Given the description of an element on the screen output the (x, y) to click on. 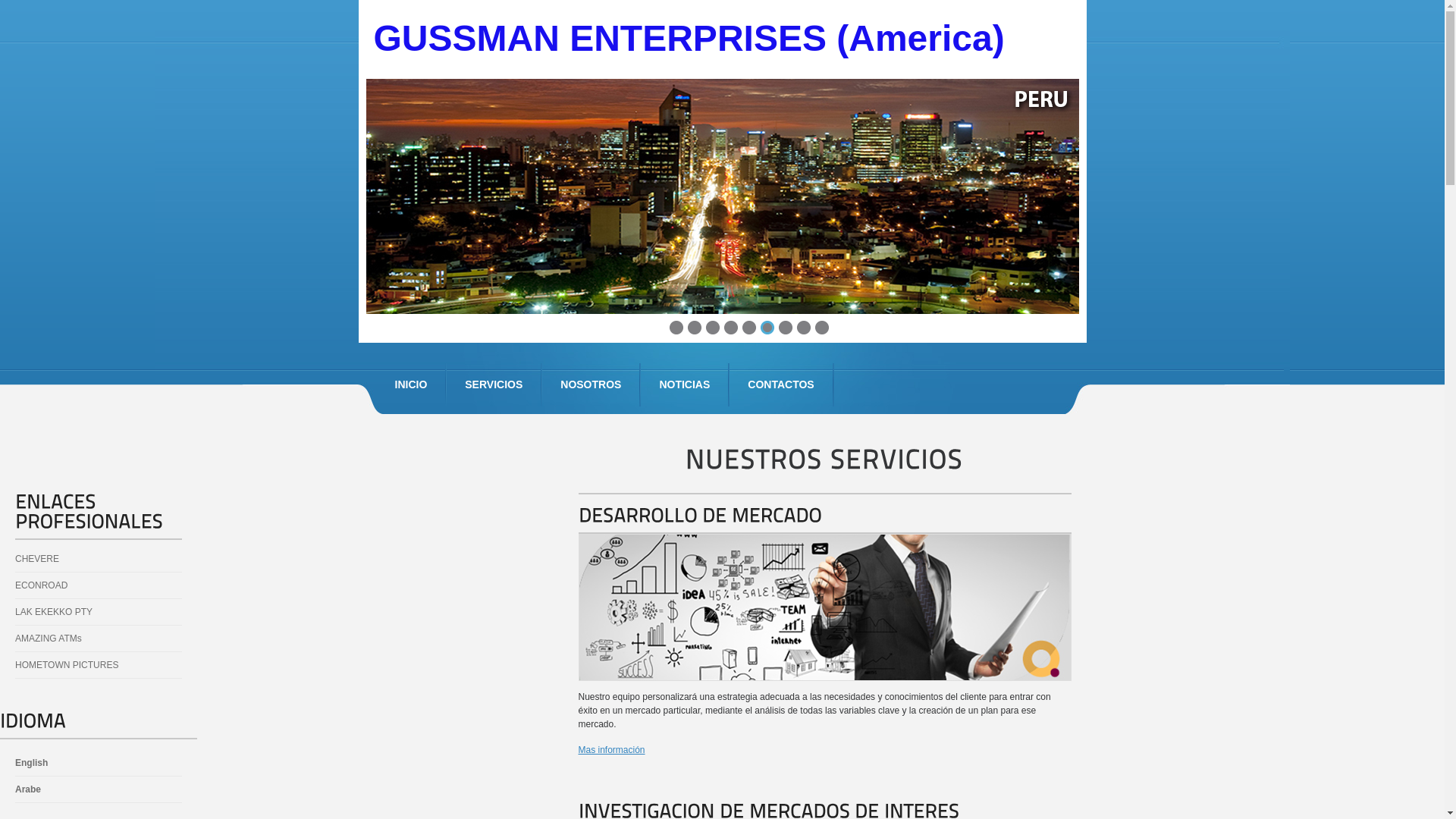
Arabe Element type: text (25, 789)
ECONROAD Element type: text (38, 585)
4 Element type: text (730, 327)
7 Element type: text (785, 327)
CHEVERE Element type: text (34, 558)
  Element type: text (366, 85)
1 Element type: text (676, 327)
  Element type: text (369, 85)
NOSOTROS Element type: text (590, 384)
HOMETOWN PICTURES Element type: text (63, 664)
INICIO Element type: text (410, 384)
9 Element type: text (821, 327)
English Element type: text (28, 762)
2 Element type: text (694, 327)
SERVICIOS Element type: text (493, 384)
8 Element type: text (803, 327)
6 Element type: text (767, 327)
LAK EKEKKO PTY Element type: text (50, 611)
AMAZING ATMs Element type: text (45, 638)
3 Element type: text (712, 327)
5 Element type: text (748, 327)
CONTACTOS Element type: text (780, 384)
NOTICIAS Element type: text (684, 384)
